Given the description of an element on the screen output the (x, y) to click on. 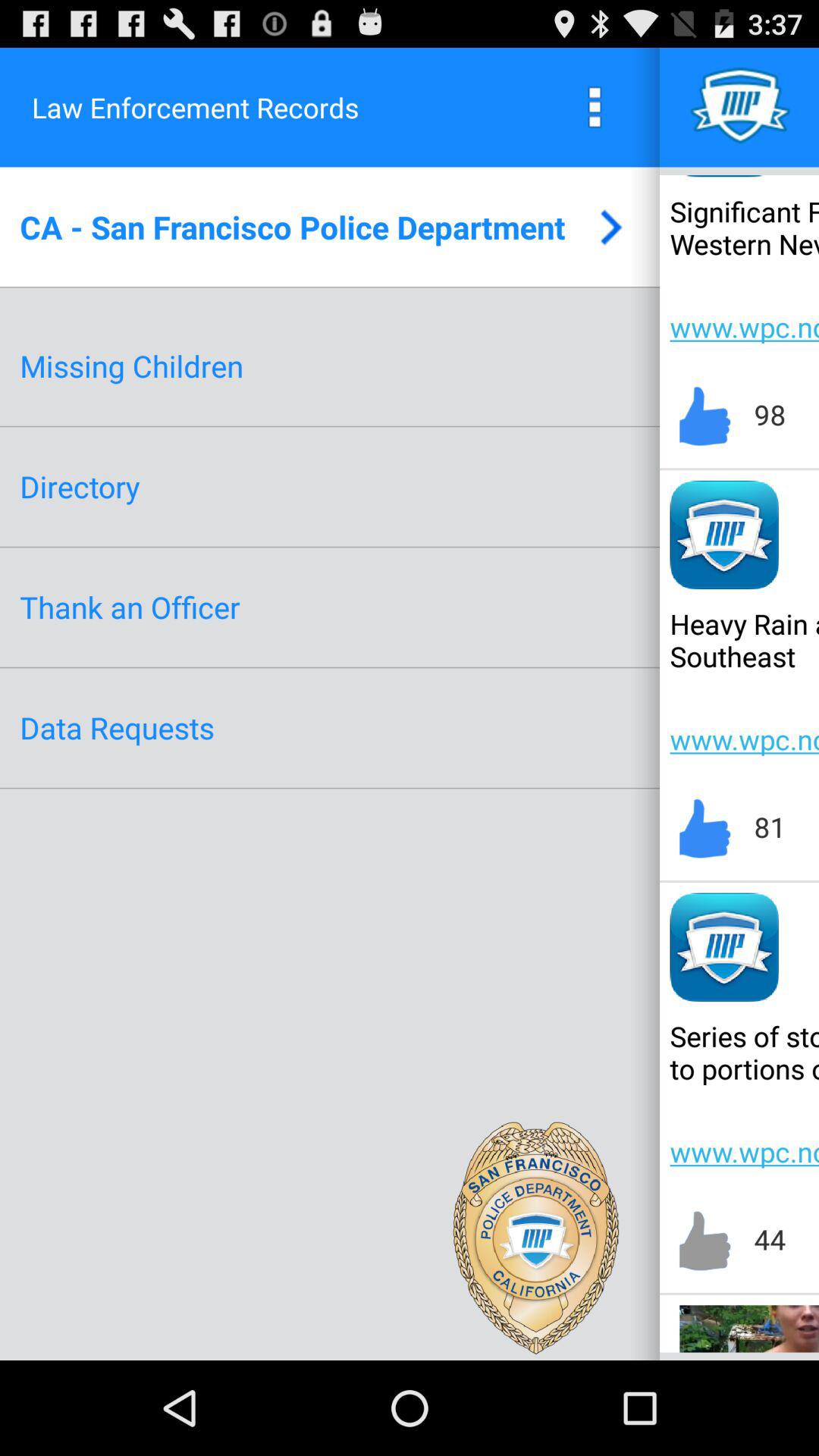
jump to missing children app (131, 365)
